Given the description of an element on the screen output the (x, y) to click on. 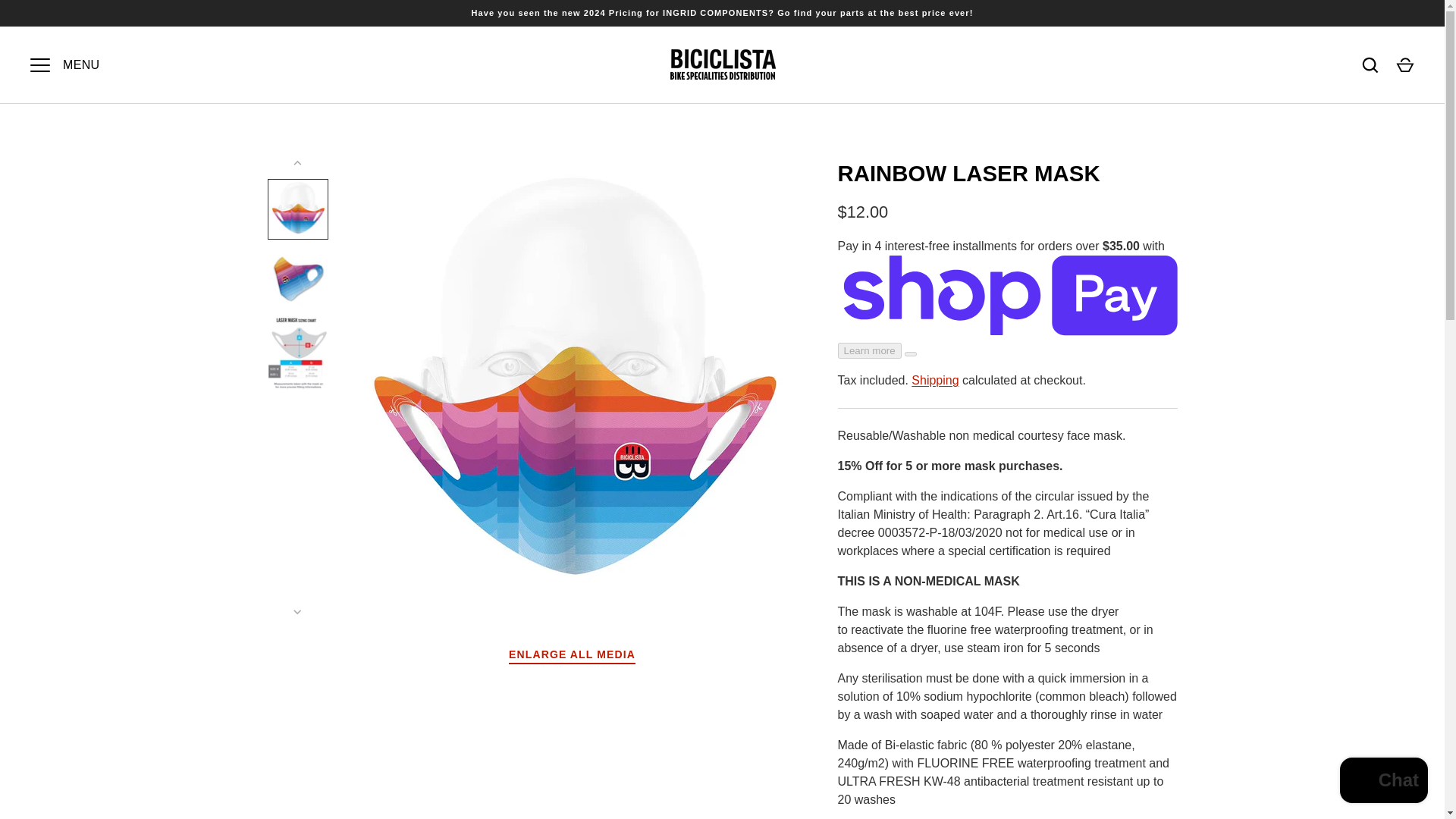
Shopify online store chat (1383, 781)
MENU (39, 64)
